Given the description of an element on the screen output the (x, y) to click on. 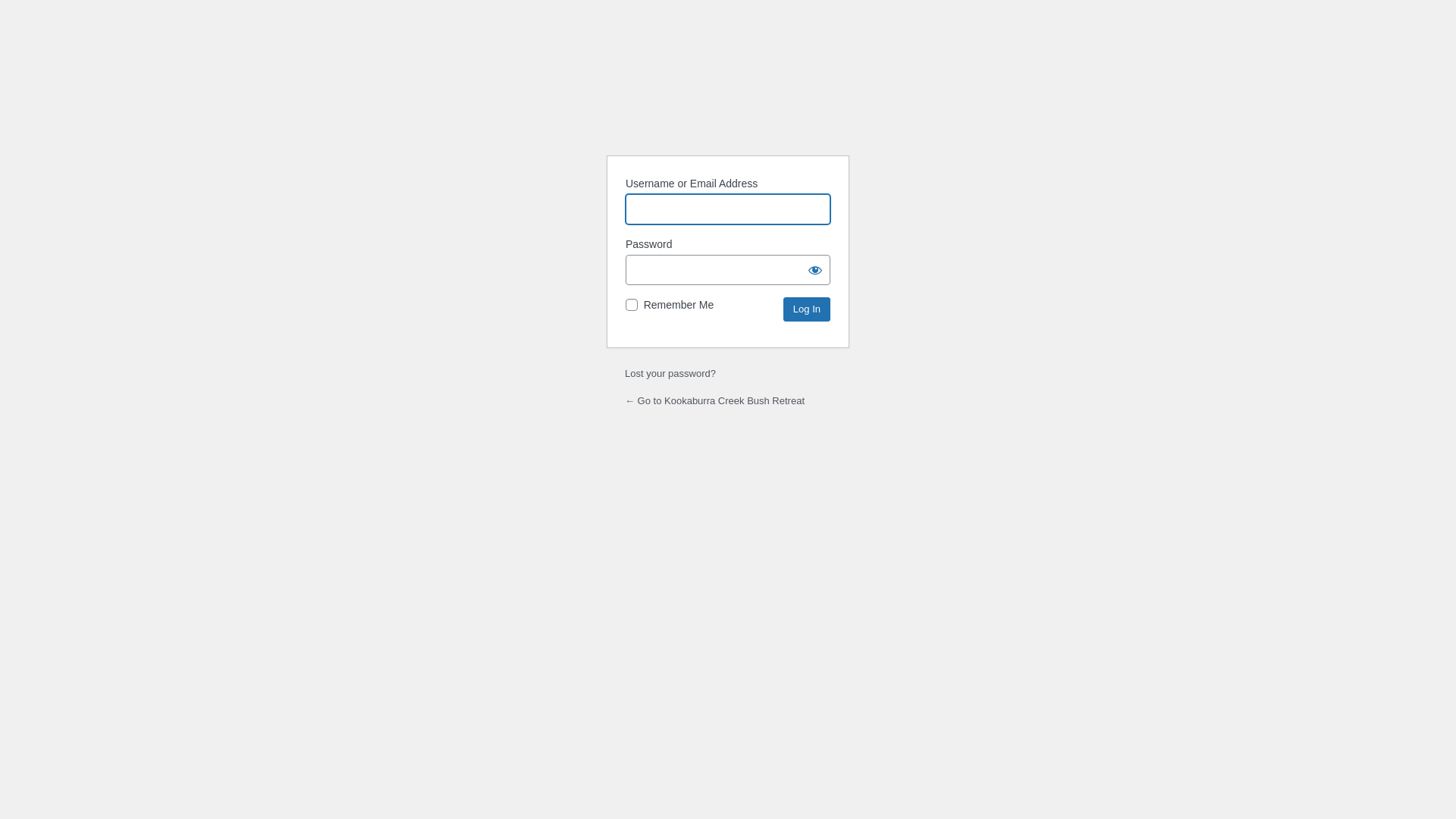
Log In Element type: text (806, 309)
Lost your password? Element type: text (669, 373)
Powered by WordPress Element type: text (727, 104)
